Given the description of an element on the screen output the (x, y) to click on. 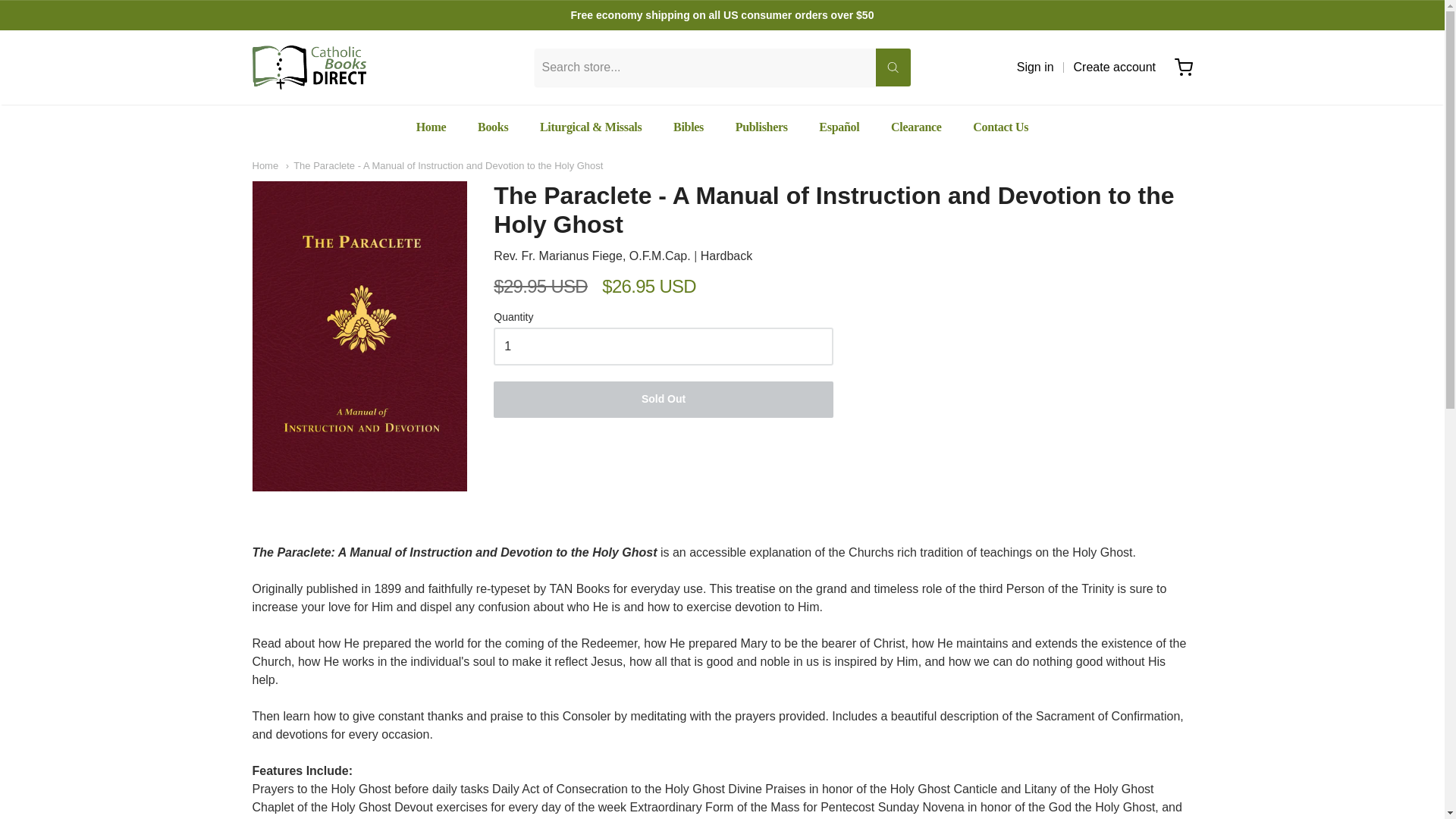
Sign in (1035, 67)
1 (662, 346)
Home (431, 127)
Catholic Books Direct (308, 67)
Home (264, 165)
Create account (1115, 67)
Books (492, 127)
